Given the description of an element on the screen output the (x, y) to click on. 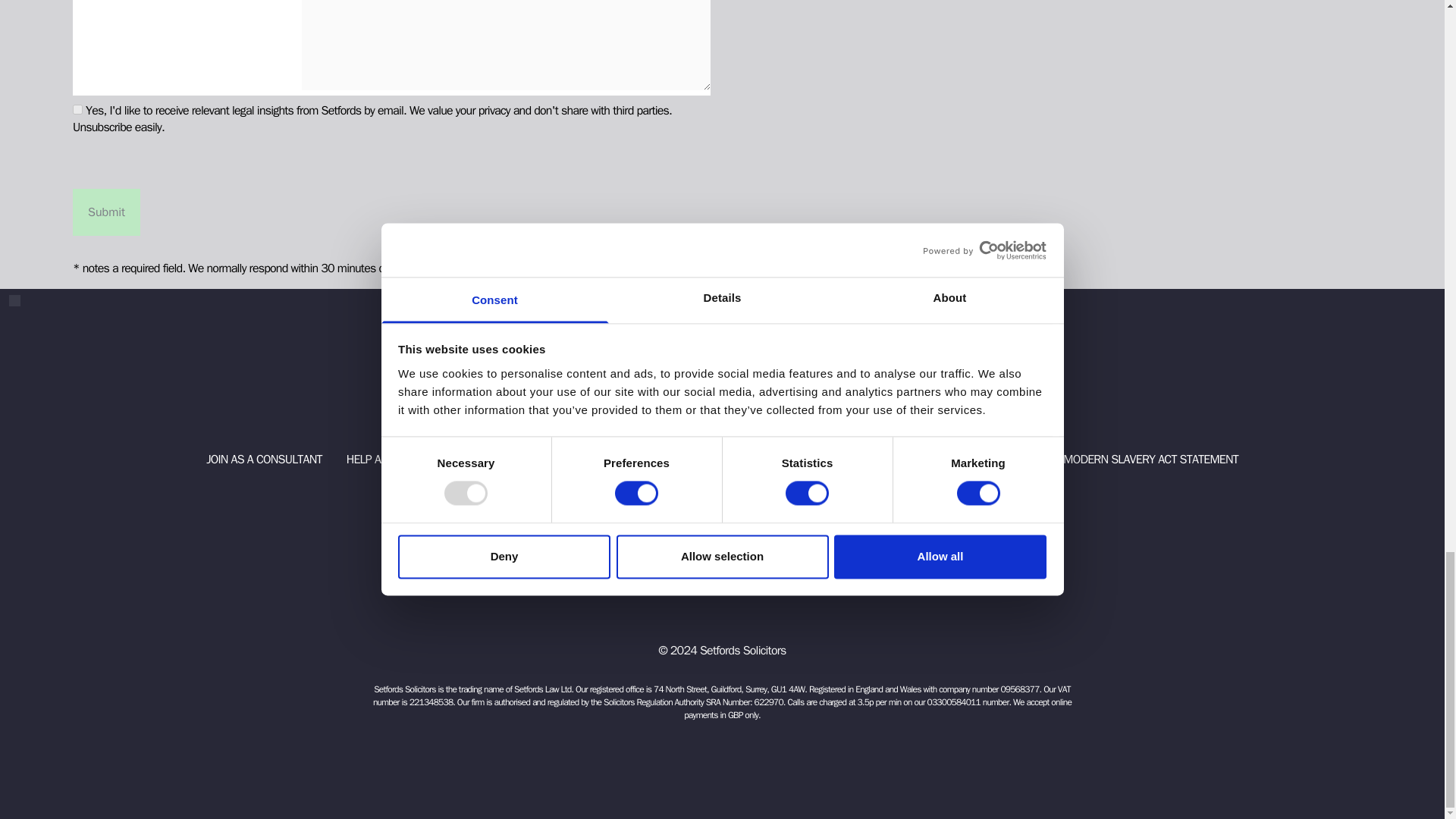
JOIN AS A CONSULTANT (263, 459)
Submit (105, 212)
